Given the description of an element on the screen output the (x, y) to click on. 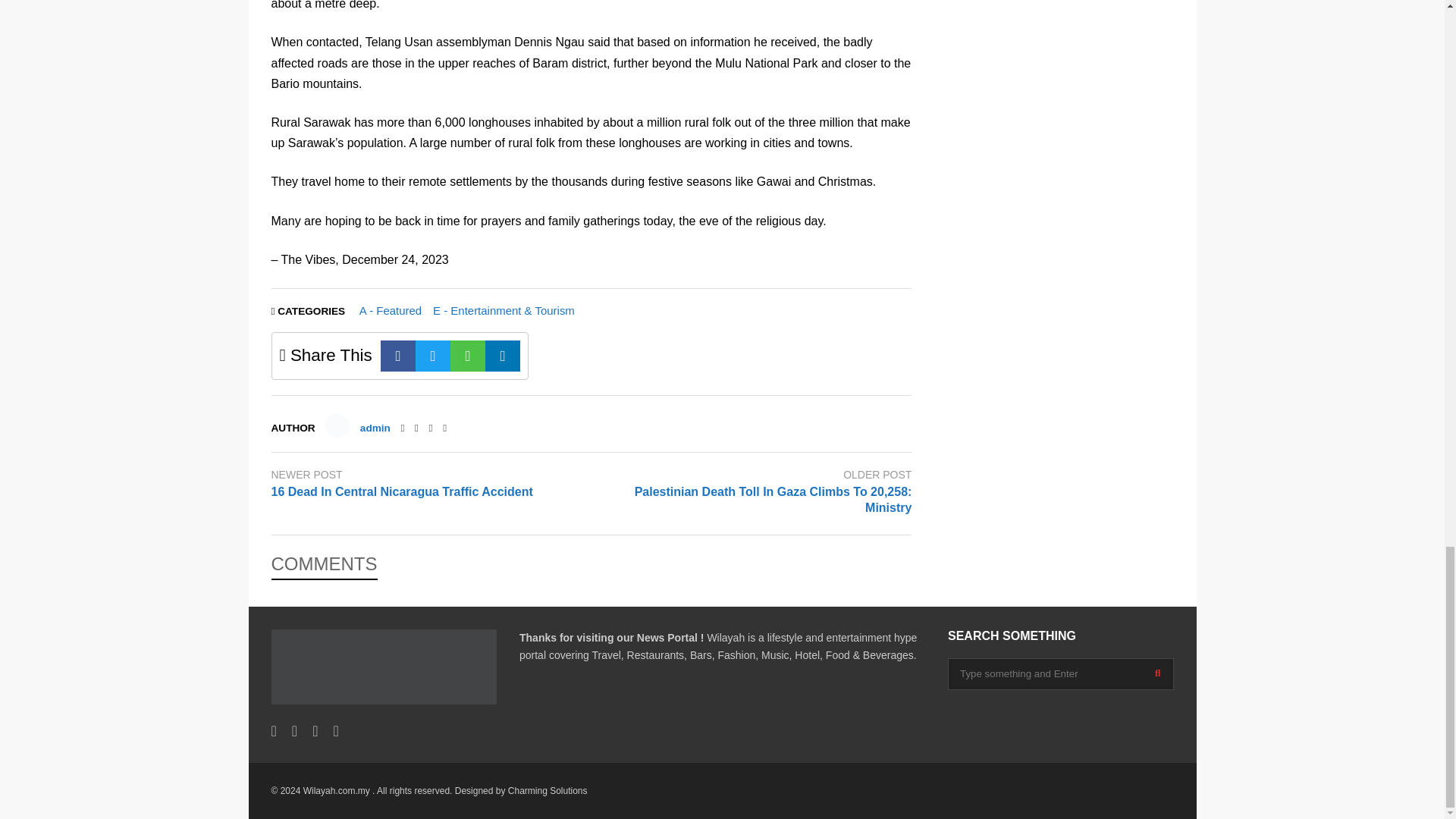
Facebook (397, 355)
Whatsapp (466, 355)
admin (374, 428)
Twitter (431, 355)
Facebook (402, 428)
Twitter (416, 428)
A - Featured (390, 309)
Linkedin (501, 355)
